Given the description of an element on the screen output the (x, y) to click on. 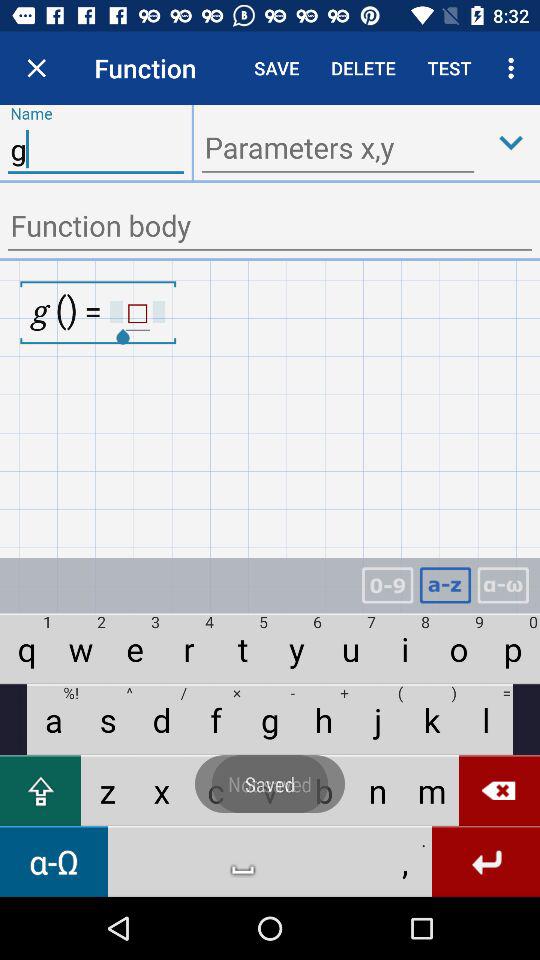
change alphabet (503, 585)
